Given the description of an element on the screen output the (x, y) to click on. 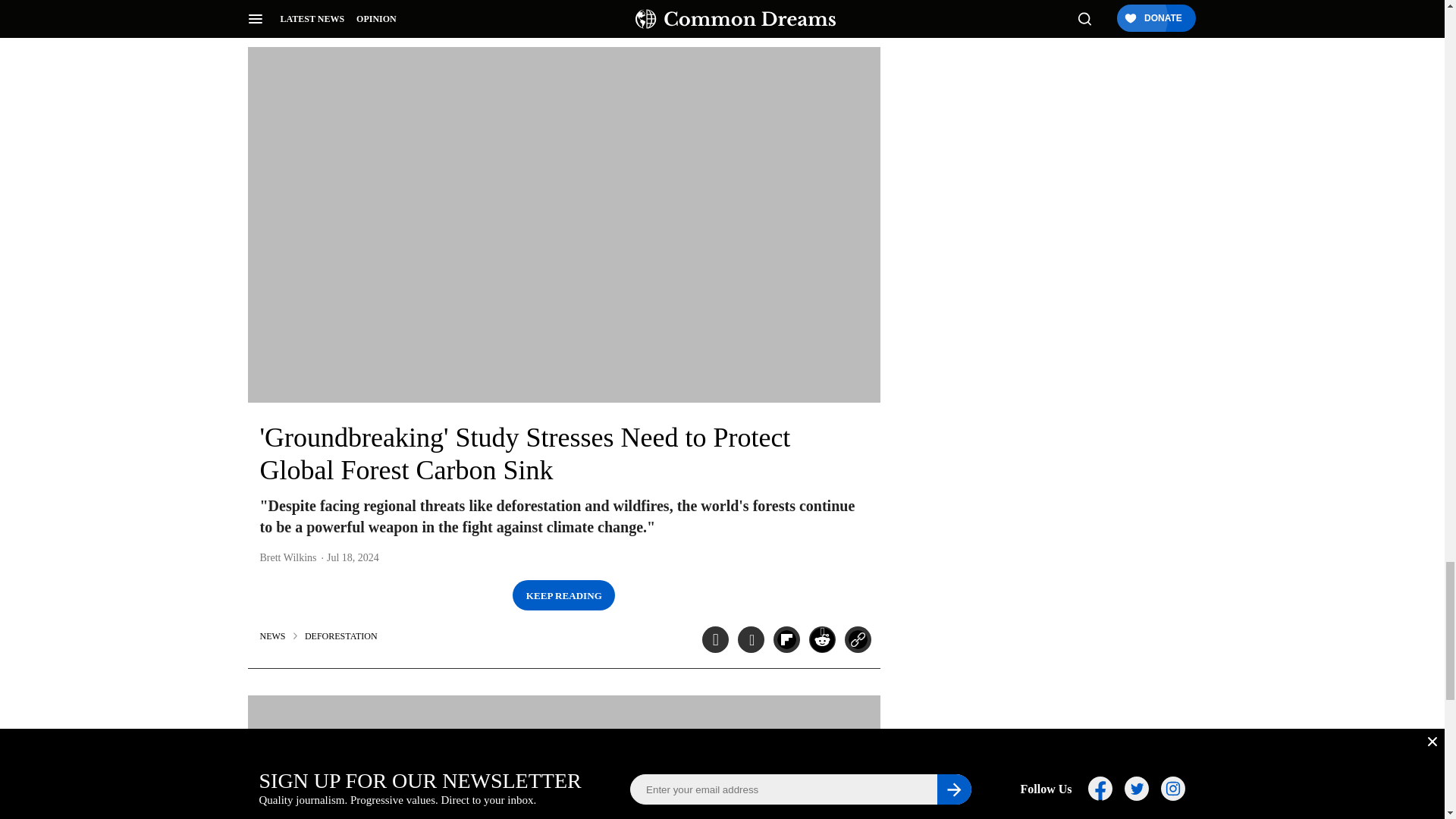
Copy this link to clipboard (857, 639)
Copy this link to clipboard (857, 2)
